Given the description of an element on the screen output the (x, y) to click on. 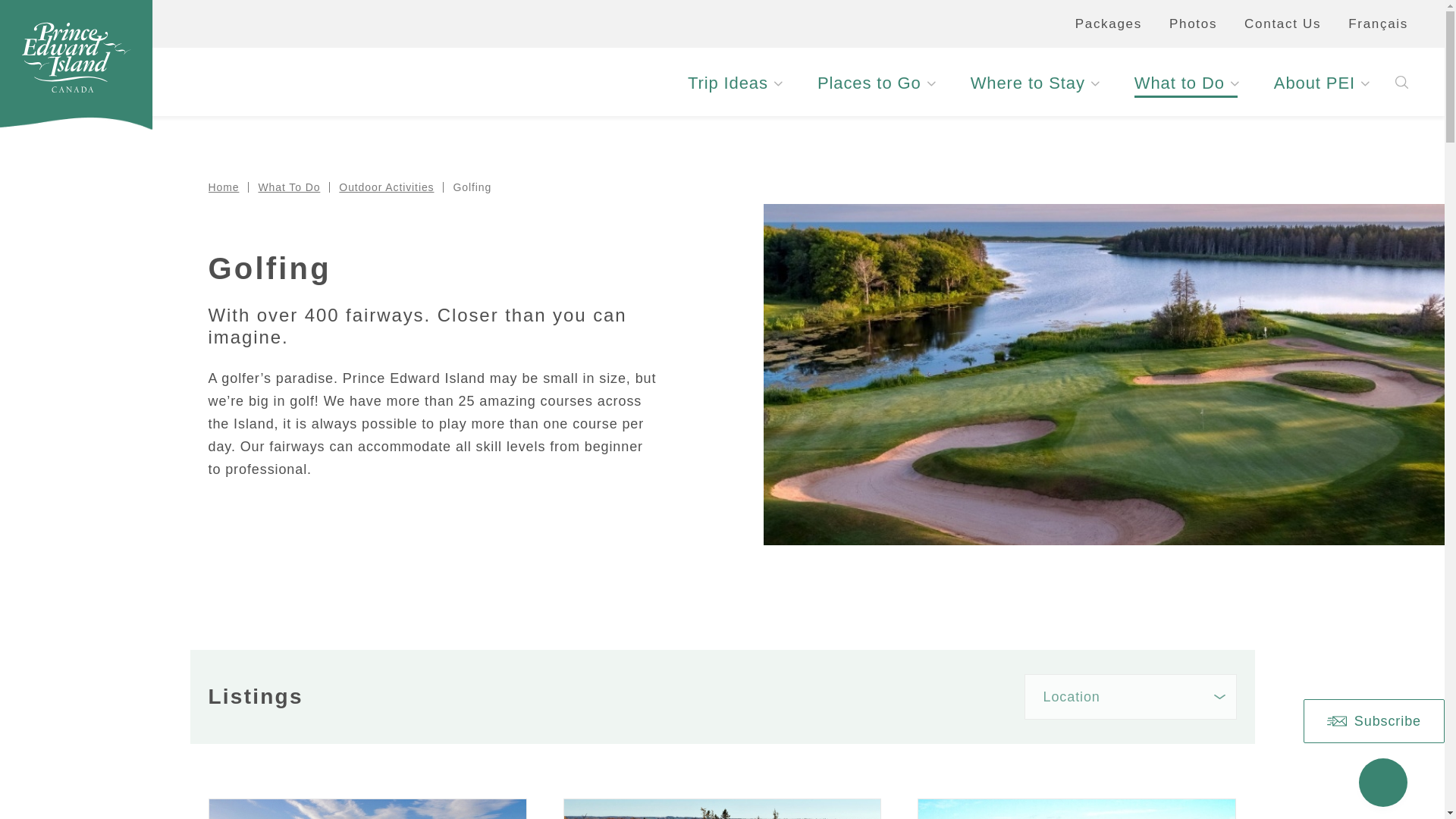
Contact Us (1282, 23)
Trip Ideas (733, 84)
Photos (1193, 23)
Packages (1108, 23)
Places to Go (875, 84)
